Given the description of an element on the screen output the (x, y) to click on. 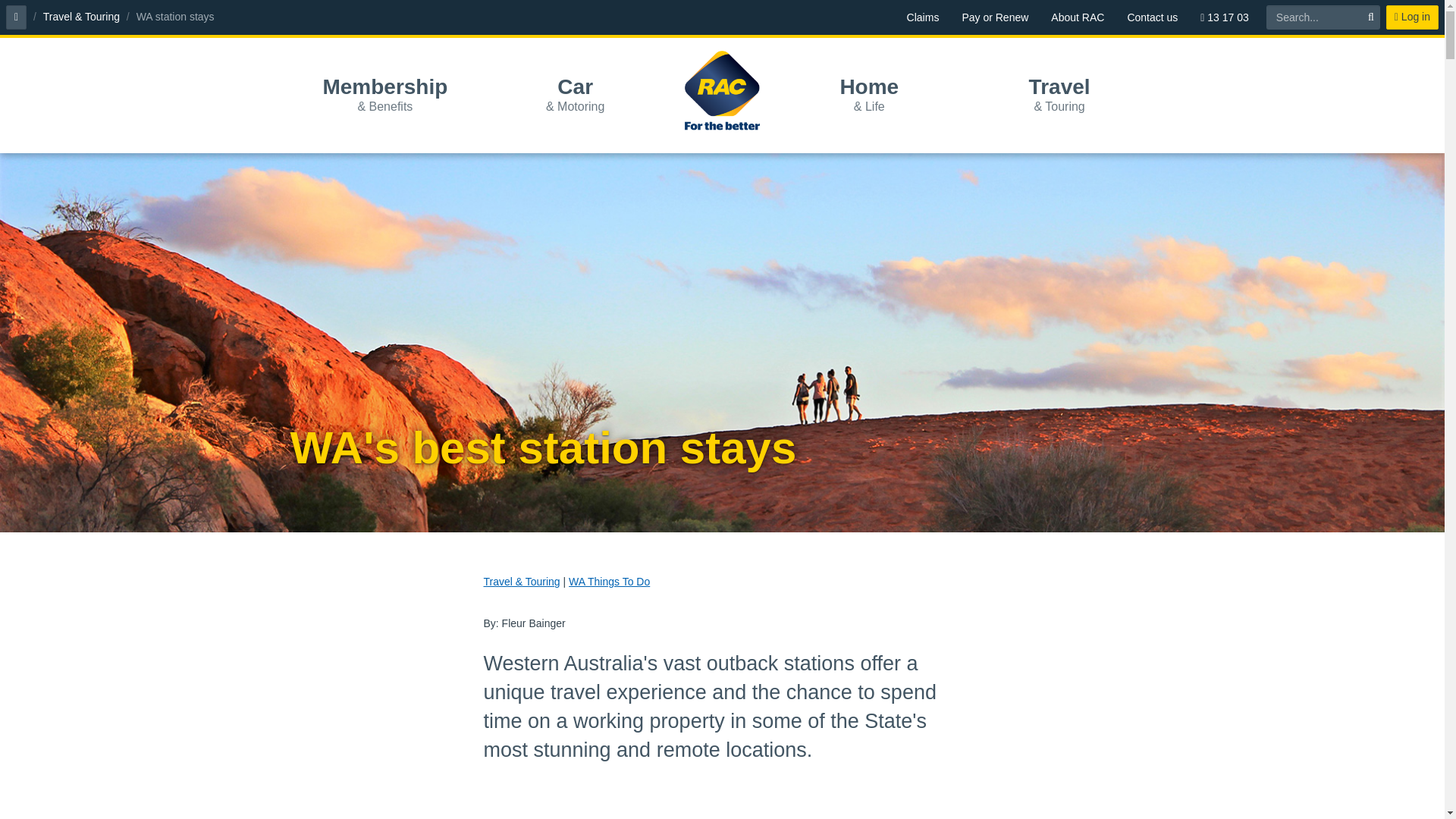
About RAC (1077, 17)
 13 17 03 (1224, 17)
 Log in (1412, 16)
Claims (922, 17)
Pay or Renew (994, 17)
RAC - For the better (721, 90)
Contact us (1152, 17)
